Given the description of an element on the screen output the (x, y) to click on. 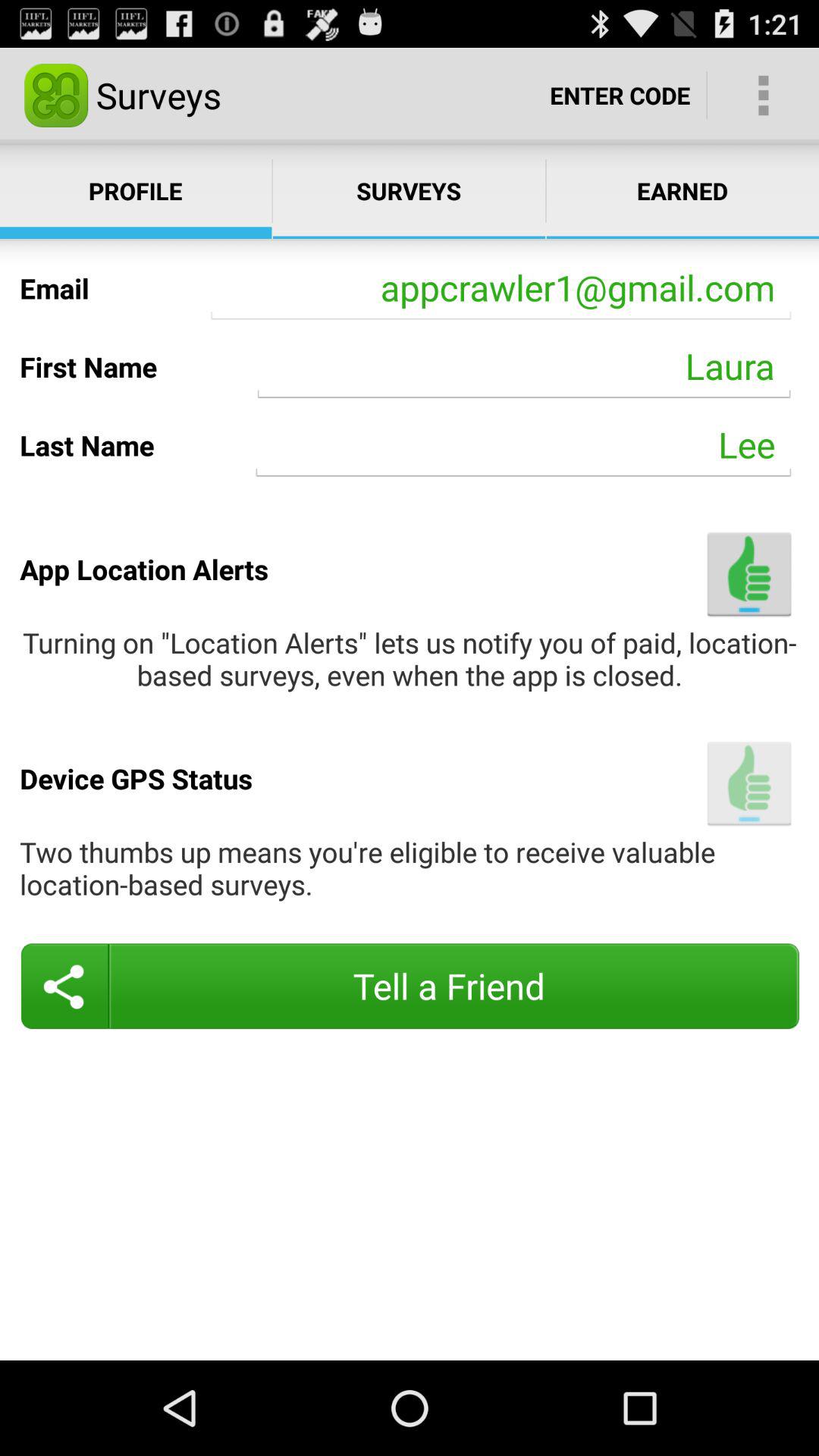
turn on the icon to the right of device gps status (749, 783)
